Given the description of an element on the screen output the (x, y) to click on. 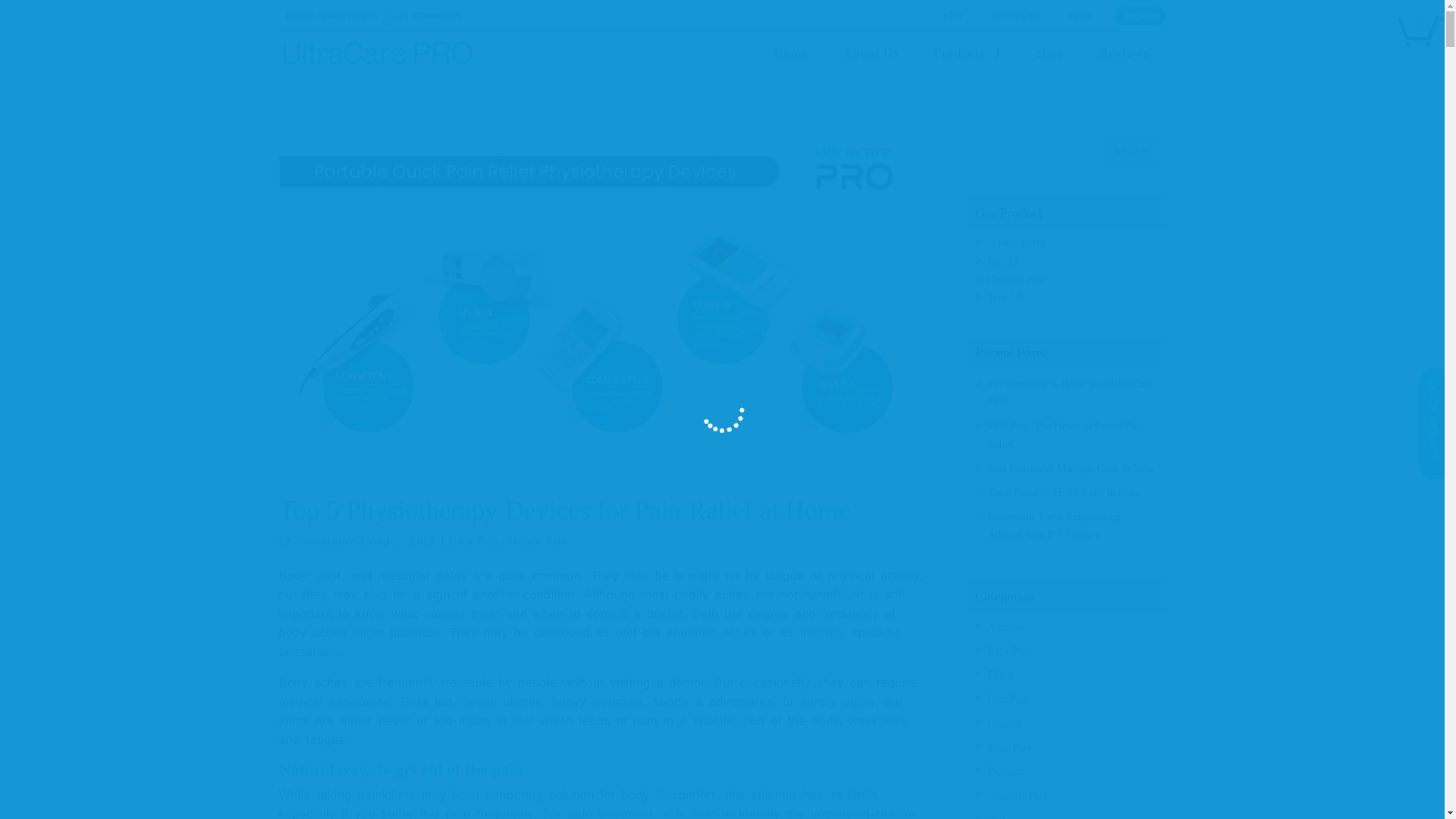
Search (1130, 151)
Shop (1049, 65)
seoexecutive (326, 541)
Home (791, 65)
Reviews (1124, 65)
Products (967, 65)
Contact Us (1015, 15)
Posts by seoexecutive (326, 541)
Register (1140, 15)
Blog (953, 15)
Muscle Pain (537, 541)
Top 5 Physiotherapy Devices for Pain Relief at Home (564, 510)
Login (1080, 15)
Back Pain (474, 541)
About Us (871, 65)
